Given the description of an element on the screen output the (x, y) to click on. 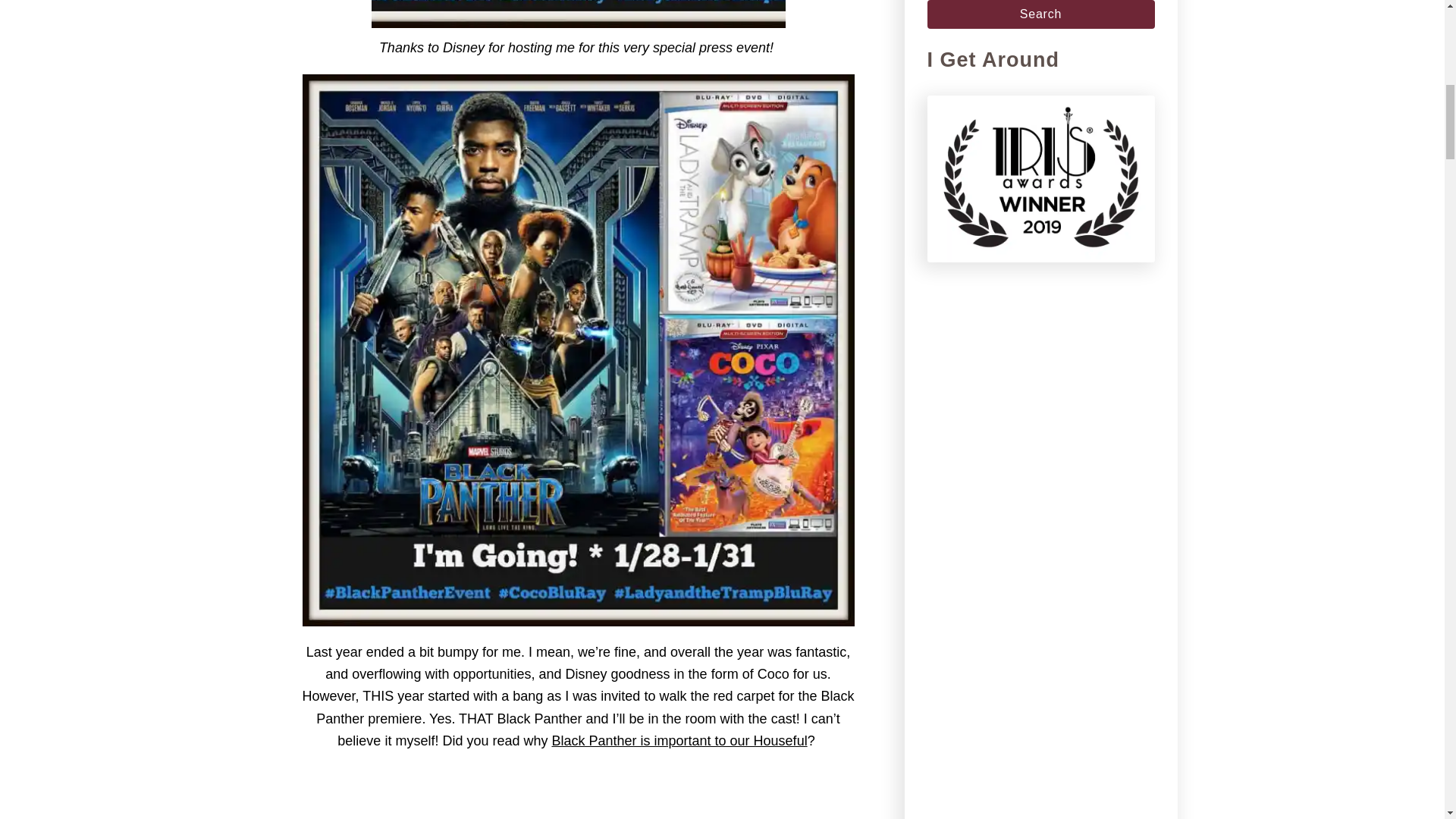
Black Panther is important to our Houseful (678, 740)
Search (1040, 14)
Search (1040, 14)
Search (1040, 14)
